Given the description of an element on the screen output the (x, y) to click on. 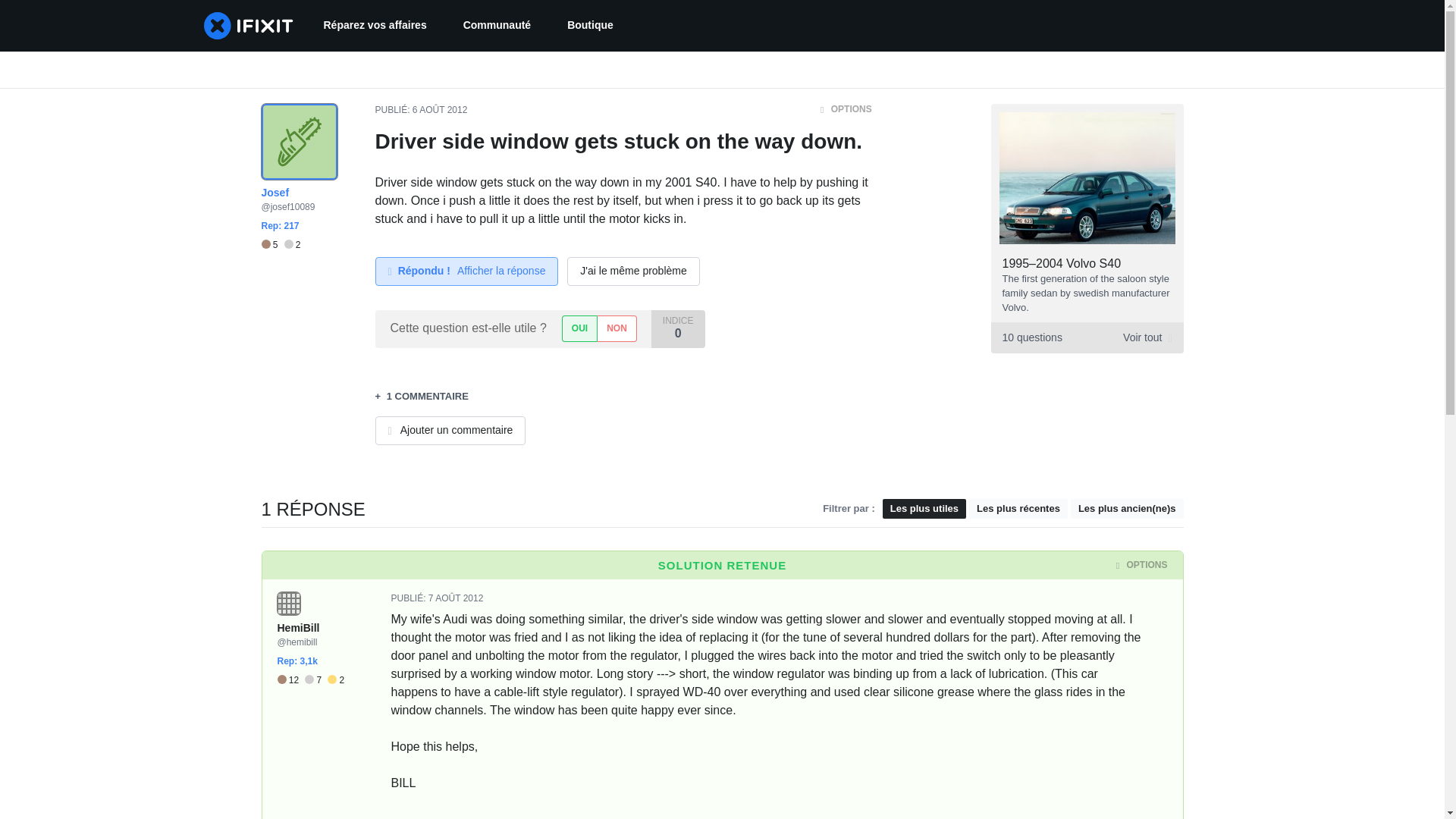
Mon, 06 Aug 2012 13:57:28 -0700 (439, 109)
Ajouter un commentaire (449, 430)
2 badges Argent (292, 245)
7 badges Argent (315, 680)
Tue, 07 Aug 2012 22:10:27 -0700 (455, 597)
12 badges Bronze (291, 680)
Les plus utiles (924, 508)
12 7 2 (311, 680)
5 2 (279, 245)
